Given the description of an element on the screen output the (x, y) to click on. 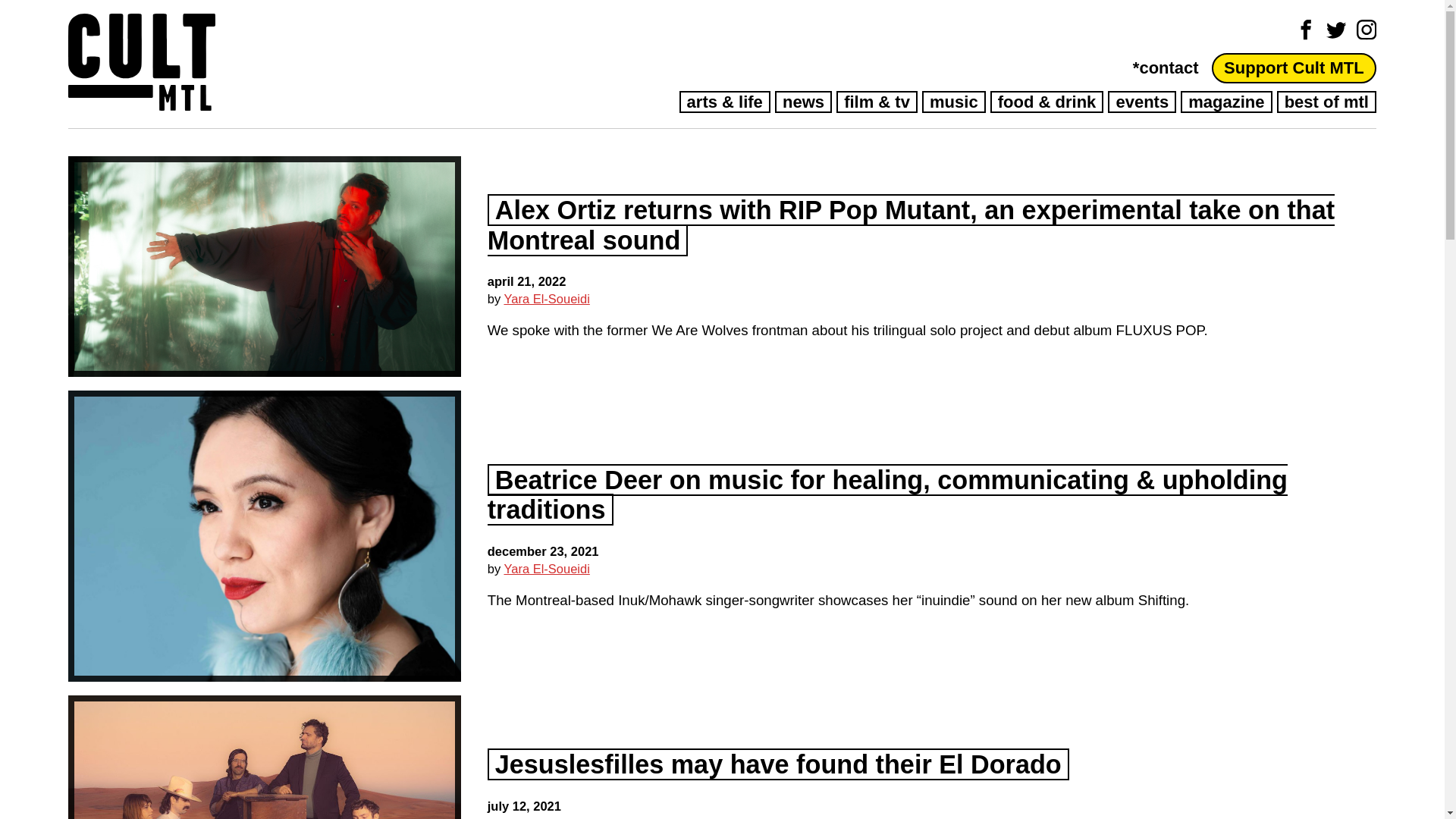
Yara El-Soueidi (546, 298)
icon-twitter (1335, 29)
magazine (1225, 101)
icon-instagram (1365, 29)
Jesuslesfilles may have found their El Dorado (777, 764)
icon-facebook (1305, 29)
events (1142, 101)
Support Cult MTL (1294, 67)
contact (1164, 67)
news (802, 101)
Yara El-Soueidi (546, 568)
music (953, 101)
best of mtl (1325, 101)
Yara El-Soueidi (546, 817)
